Given the description of an element on the screen output the (x, y) to click on. 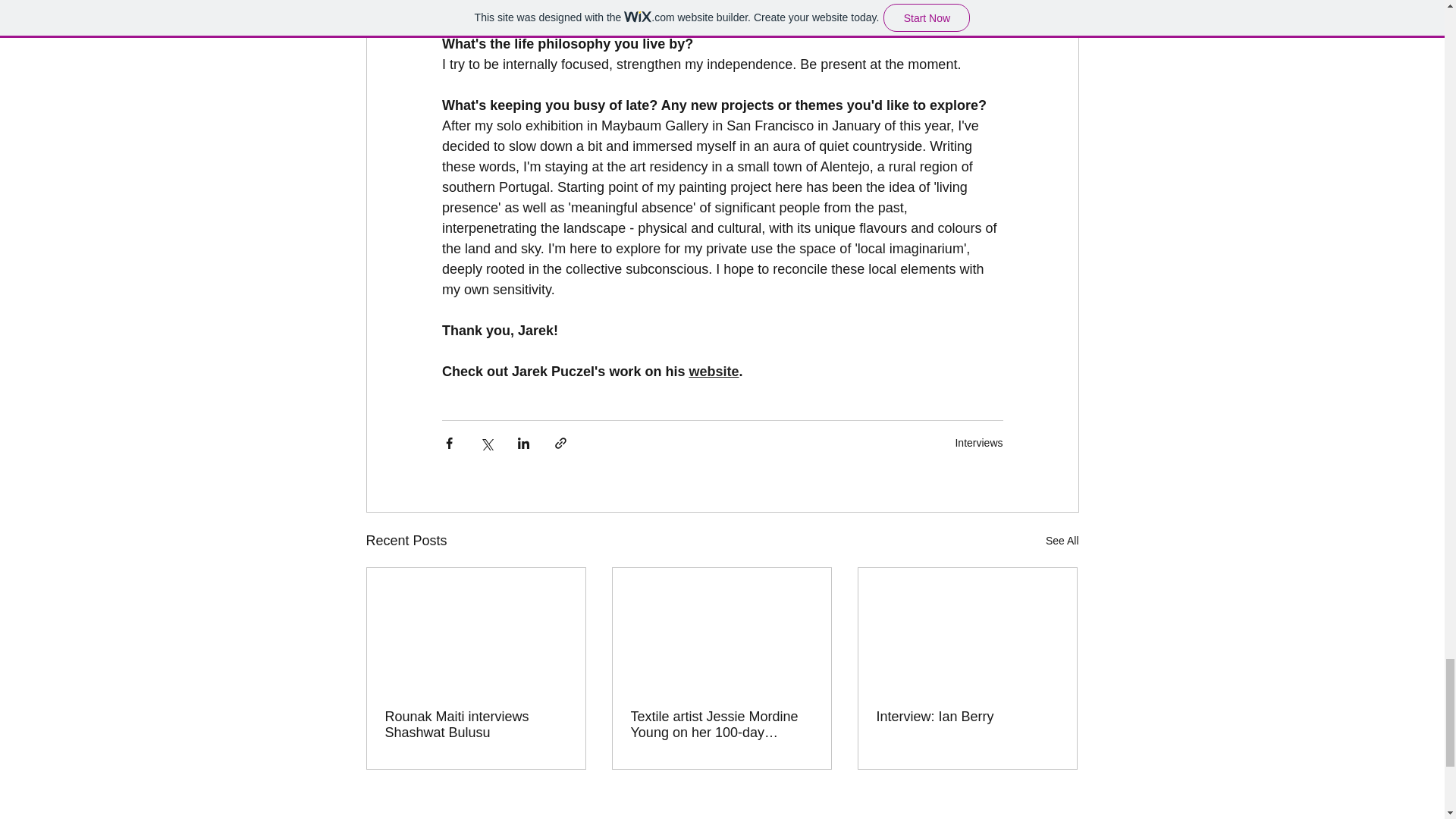
Interviews (979, 442)
Interview: Ian Berry (967, 716)
website (713, 371)
See All (1061, 540)
Rounak Maiti interviews Shashwat Bulusu (476, 725)
